Given the description of an element on the screen output the (x, y) to click on. 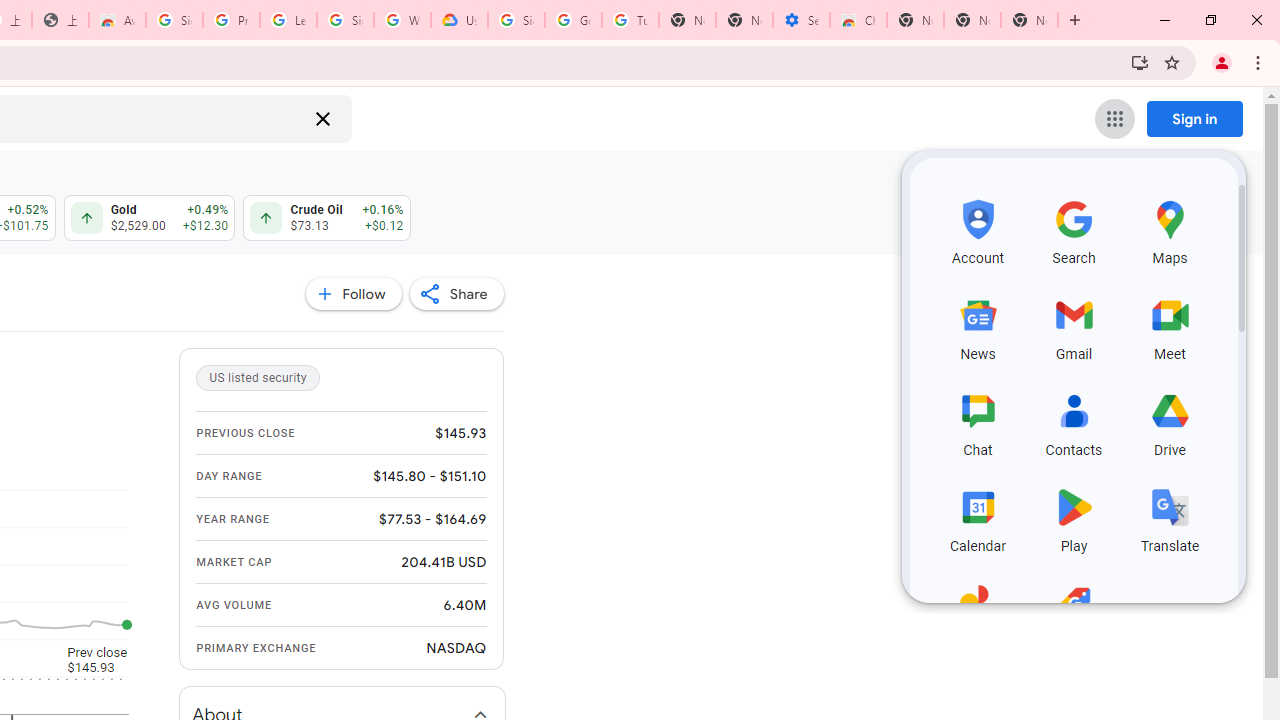
New Tab (915, 20)
New Tab (1029, 20)
Who are Google's partners? - Privacy and conditions - Google (402, 20)
Settings - Accessibility (801, 20)
